Given the description of an element on the screen output the (x, y) to click on. 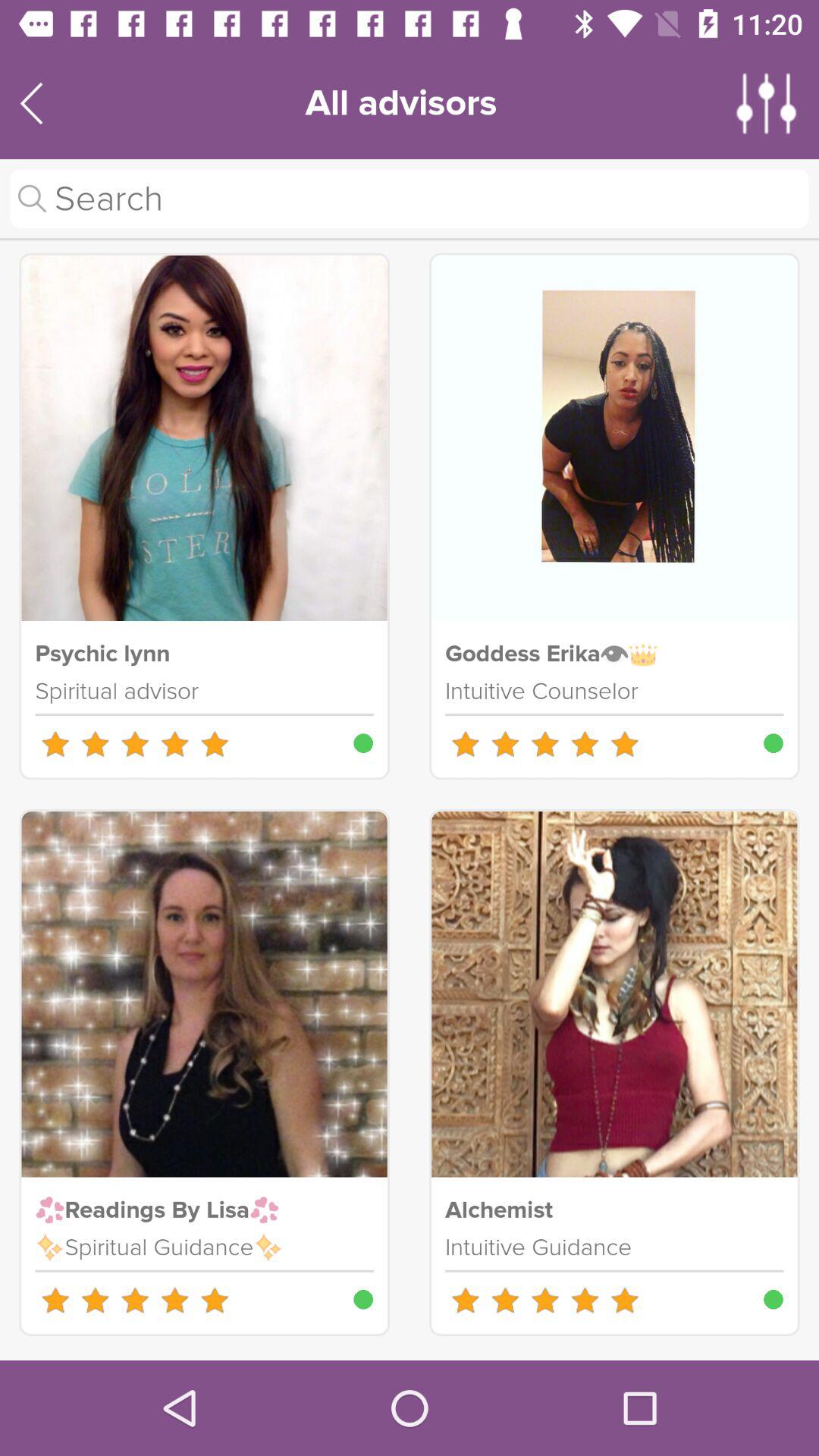
select the item below the all advisors item (409, 198)
